Given the description of an element on the screen output the (x, y) to click on. 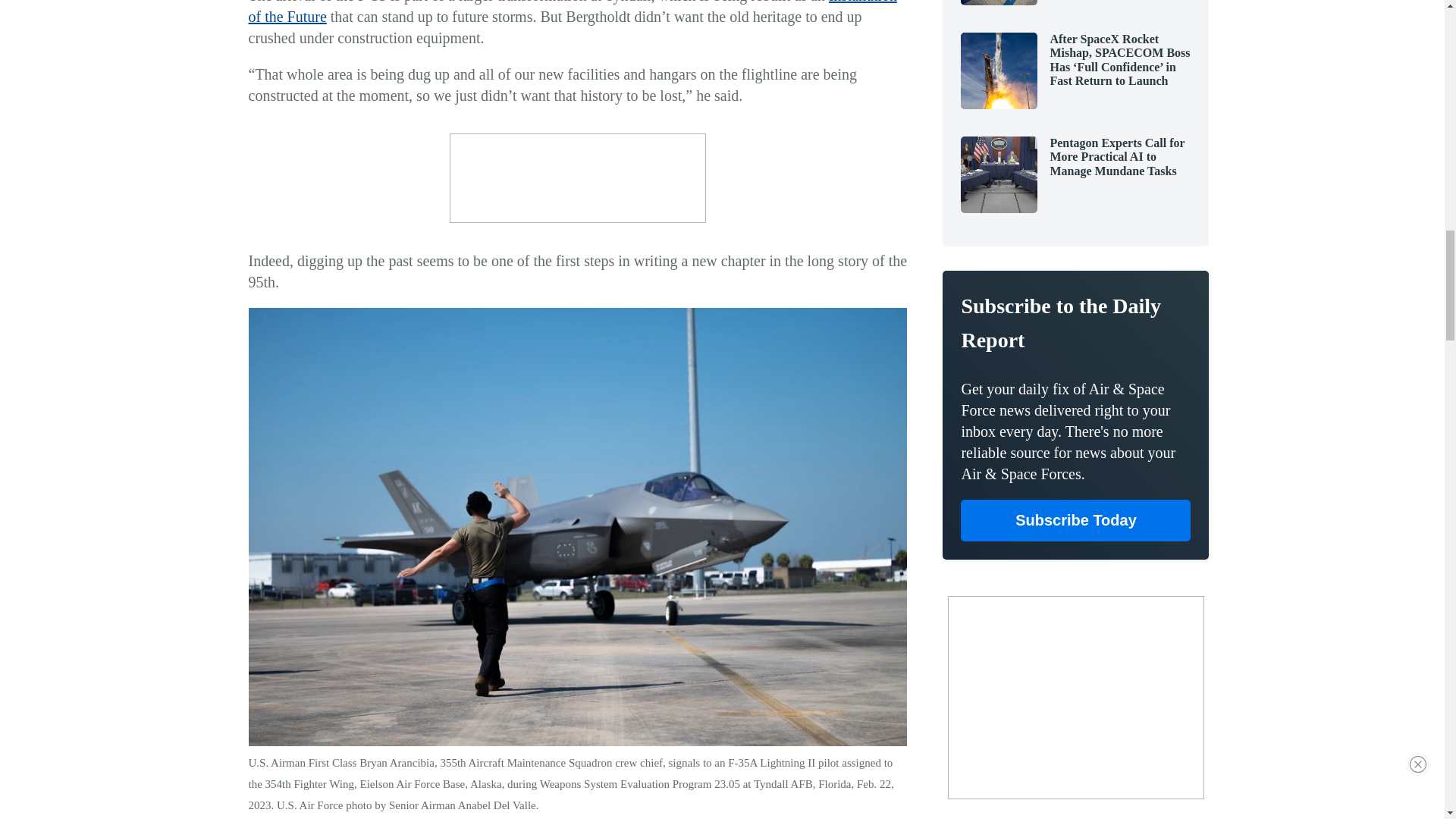
3rd party ad content (1075, 697)
3rd party ad content (577, 178)
